Given the description of an element on the screen output the (x, y) to click on. 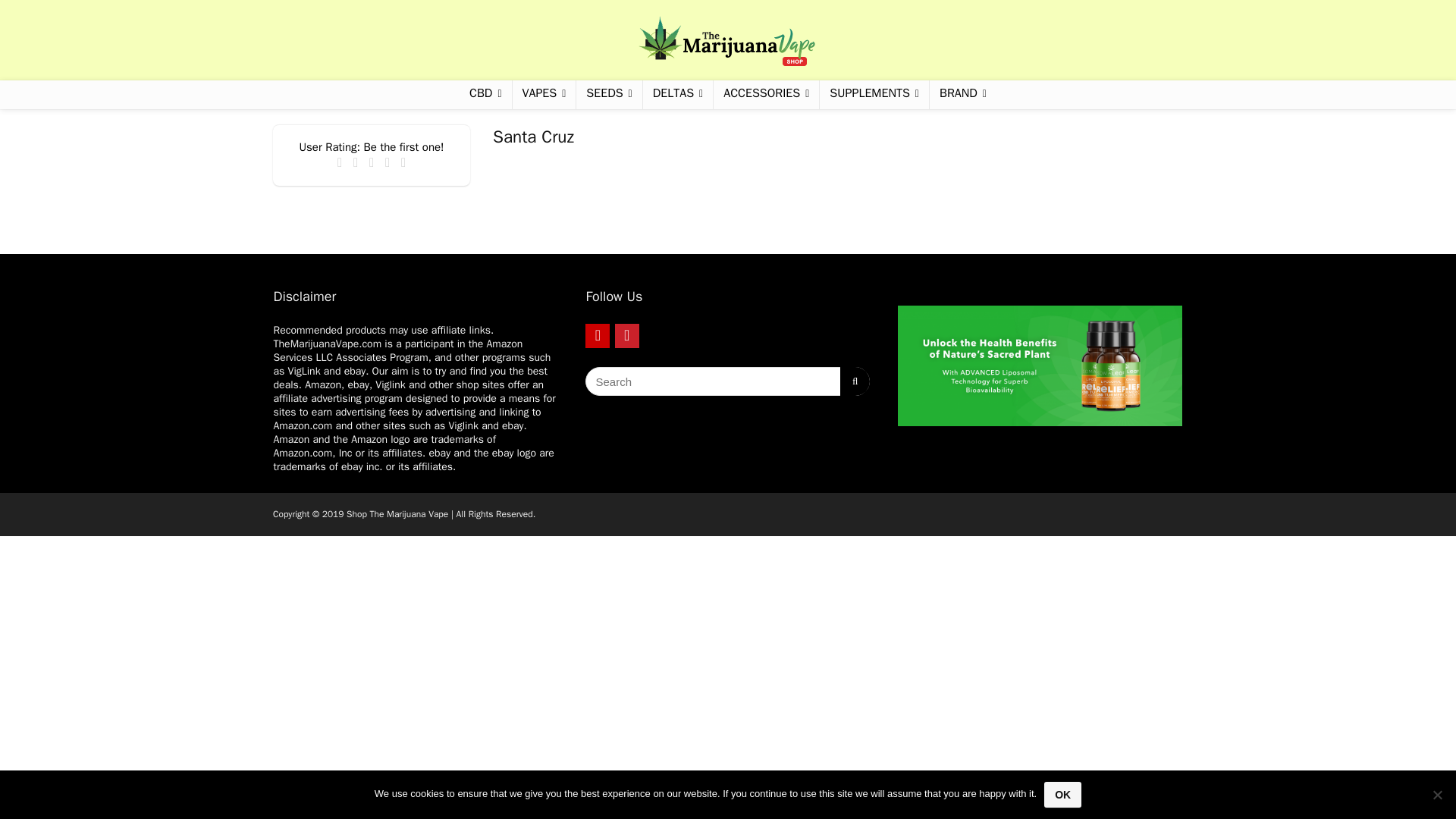
CBD (485, 94)
Pinterest (626, 335)
DELTAS (678, 94)
SEEDS (609, 94)
Youtube (597, 335)
VAPES (544, 94)
